Given the description of an element on the screen output the (x, y) to click on. 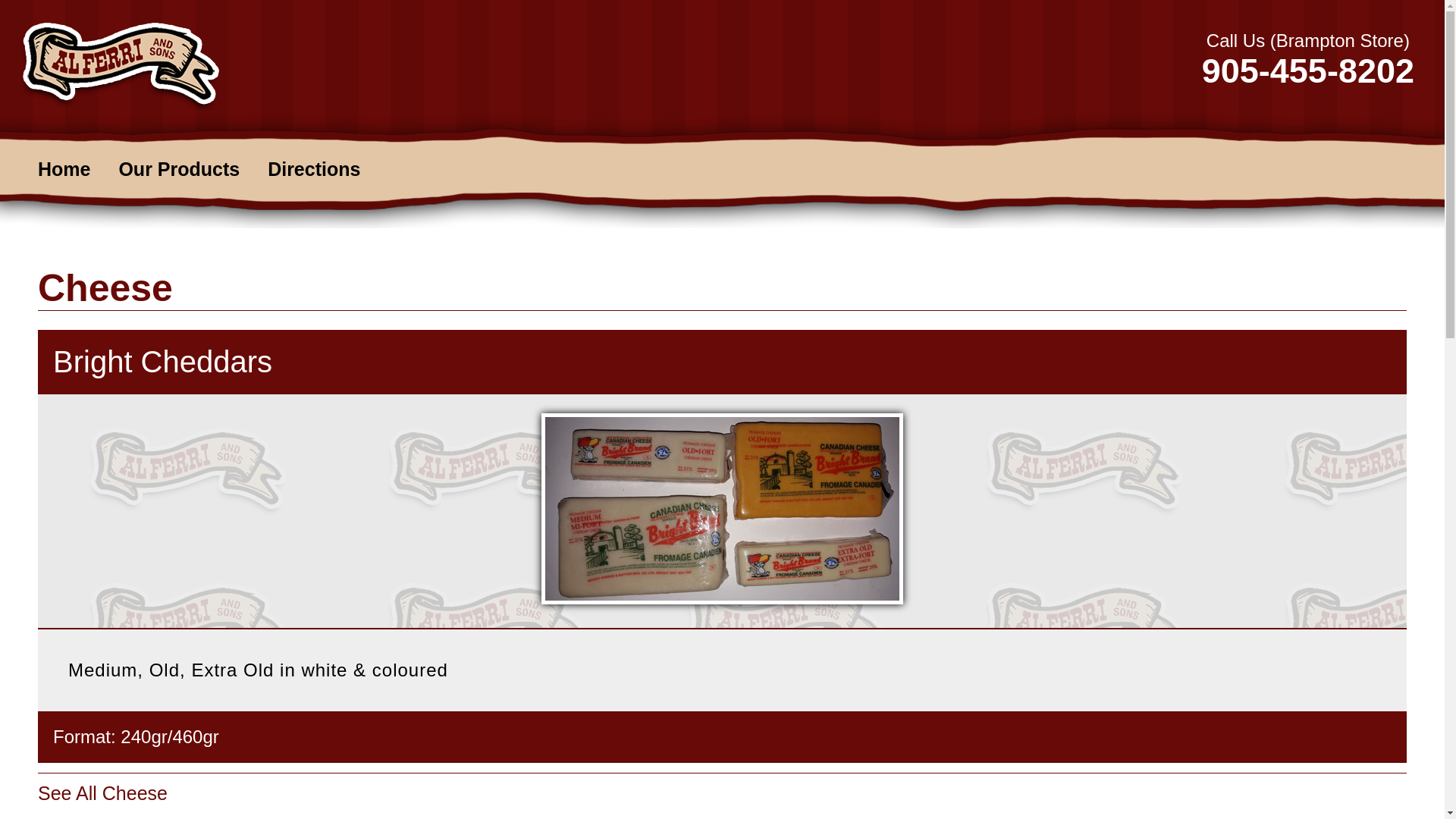
Directions Element type: text (324, 168)
Home Element type: text (74, 168)
See All Cheese Element type: text (102, 792)
Our Products Element type: text (190, 168)
